Given the description of an element on the screen output the (x, y) to click on. 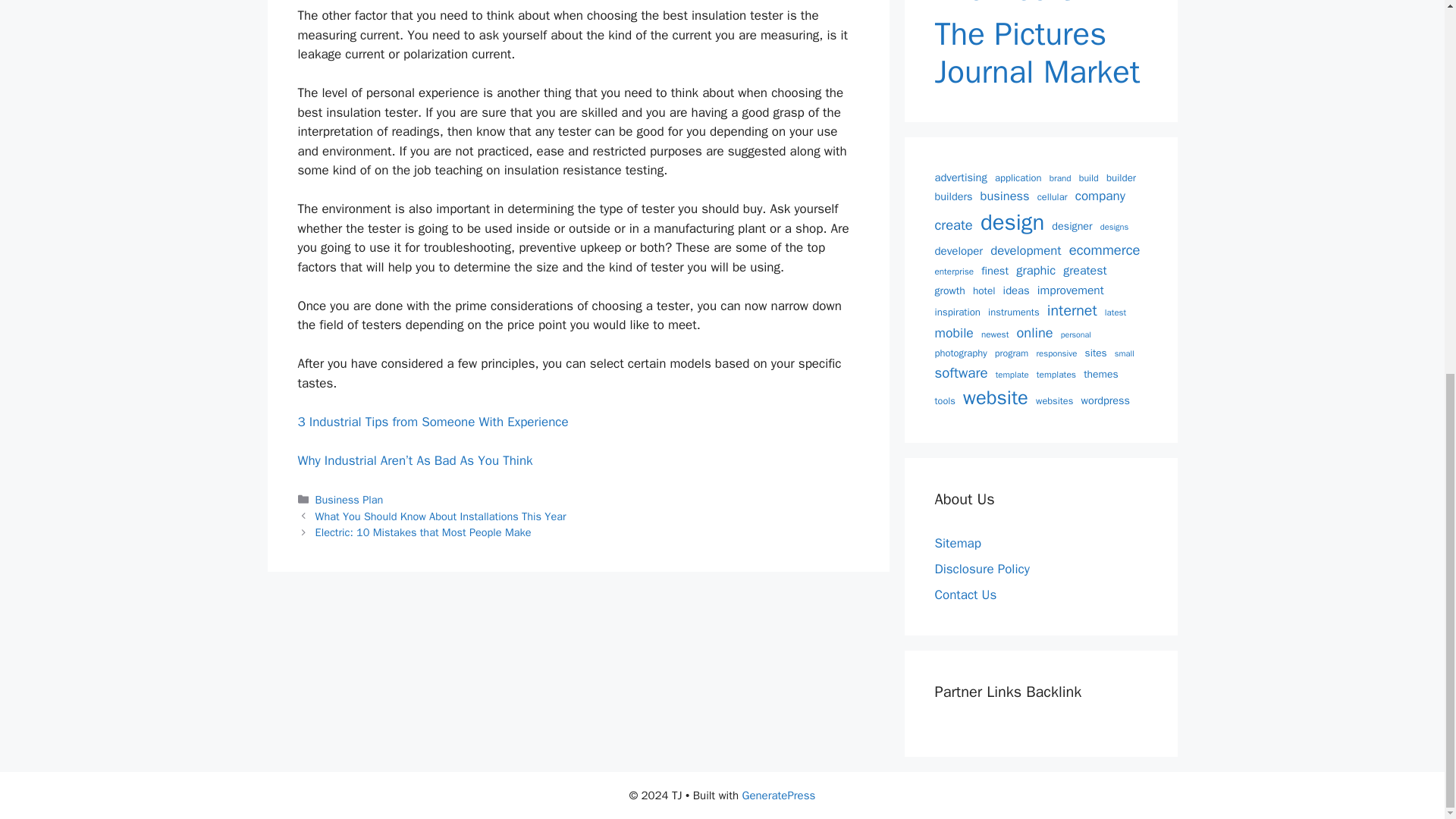
The Pictures Journal Market (1040, 53)
finest (995, 271)
What You Should Know About Installations This Year (440, 516)
builder (1120, 177)
Electric: 10 Mistakes that Most People Make (423, 531)
Photography Comes From The Heart (1040, 4)
advertising (960, 177)
builders (953, 197)
cellular (1051, 197)
designs (1114, 226)
